Given the description of an element on the screen output the (x, y) to click on. 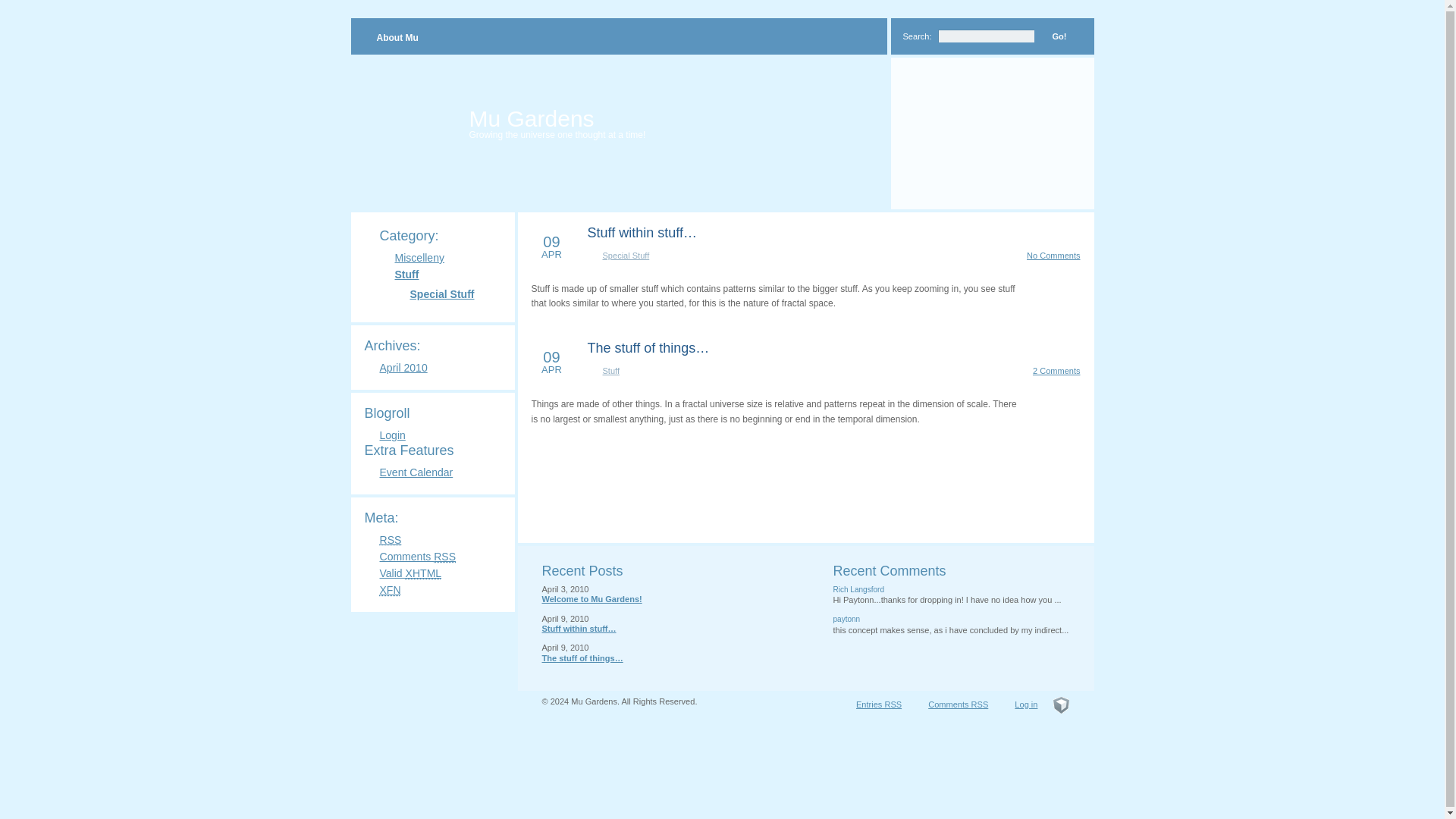
Event Calendar (415, 472)
April 2010 (402, 367)
2 Comments (1056, 370)
Rich Langsford (857, 589)
Go! (1059, 35)
Login (391, 435)
Special Stuff (441, 294)
Really Simple Syndication (444, 556)
Go! (1059, 35)
Comments RSS (416, 556)
Stuff (406, 274)
Permalink to: Welcome to Mu Gardens! (591, 598)
XFN (389, 589)
Really Simple Syndication (551, 246)
